Given the description of an element on the screen output the (x, y) to click on. 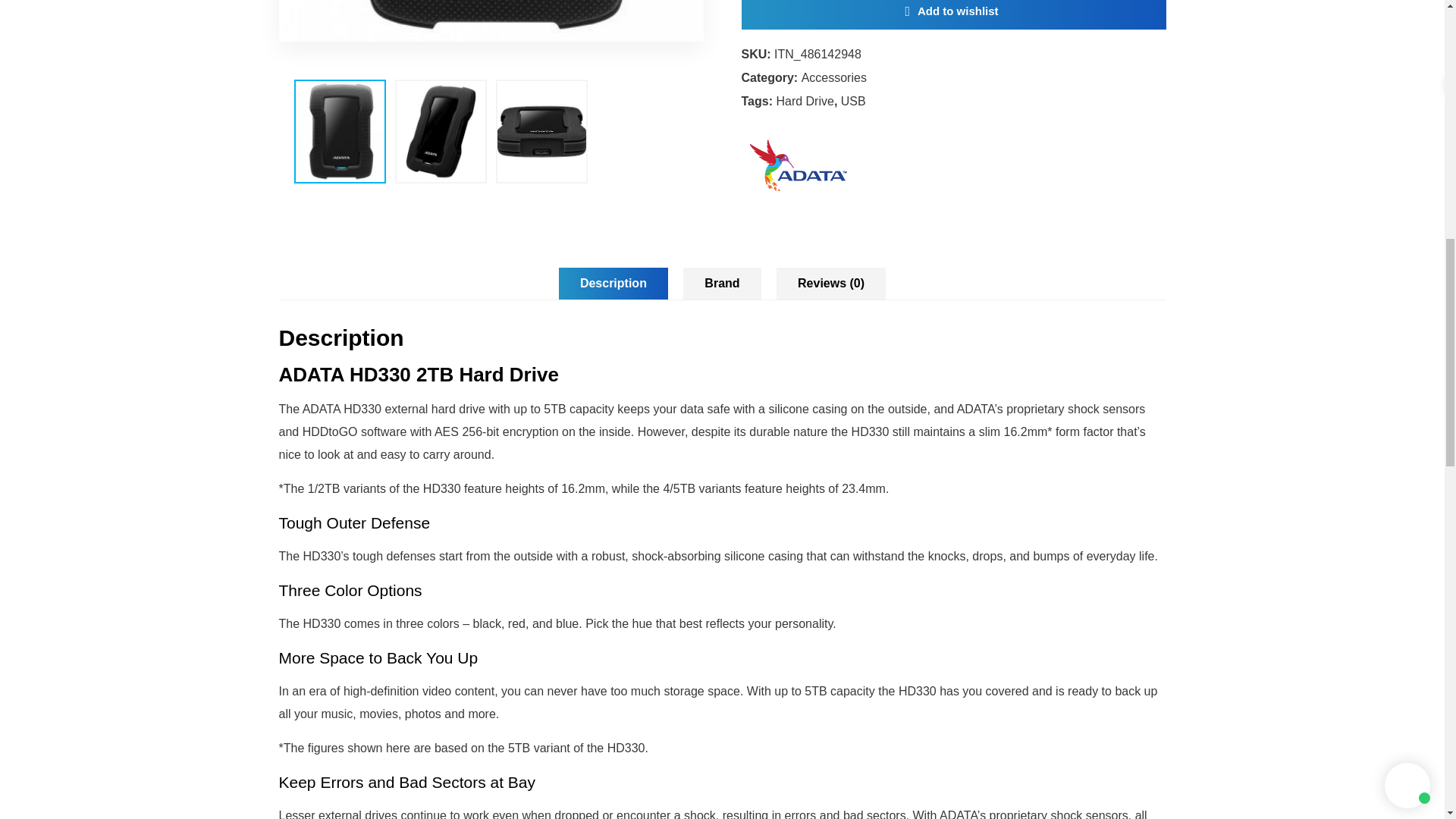
product-38982-1-1540-7370-221218074330.jpg (491, 20)
ADATA (798, 11)
